Given the description of an element on the screen output the (x, y) to click on. 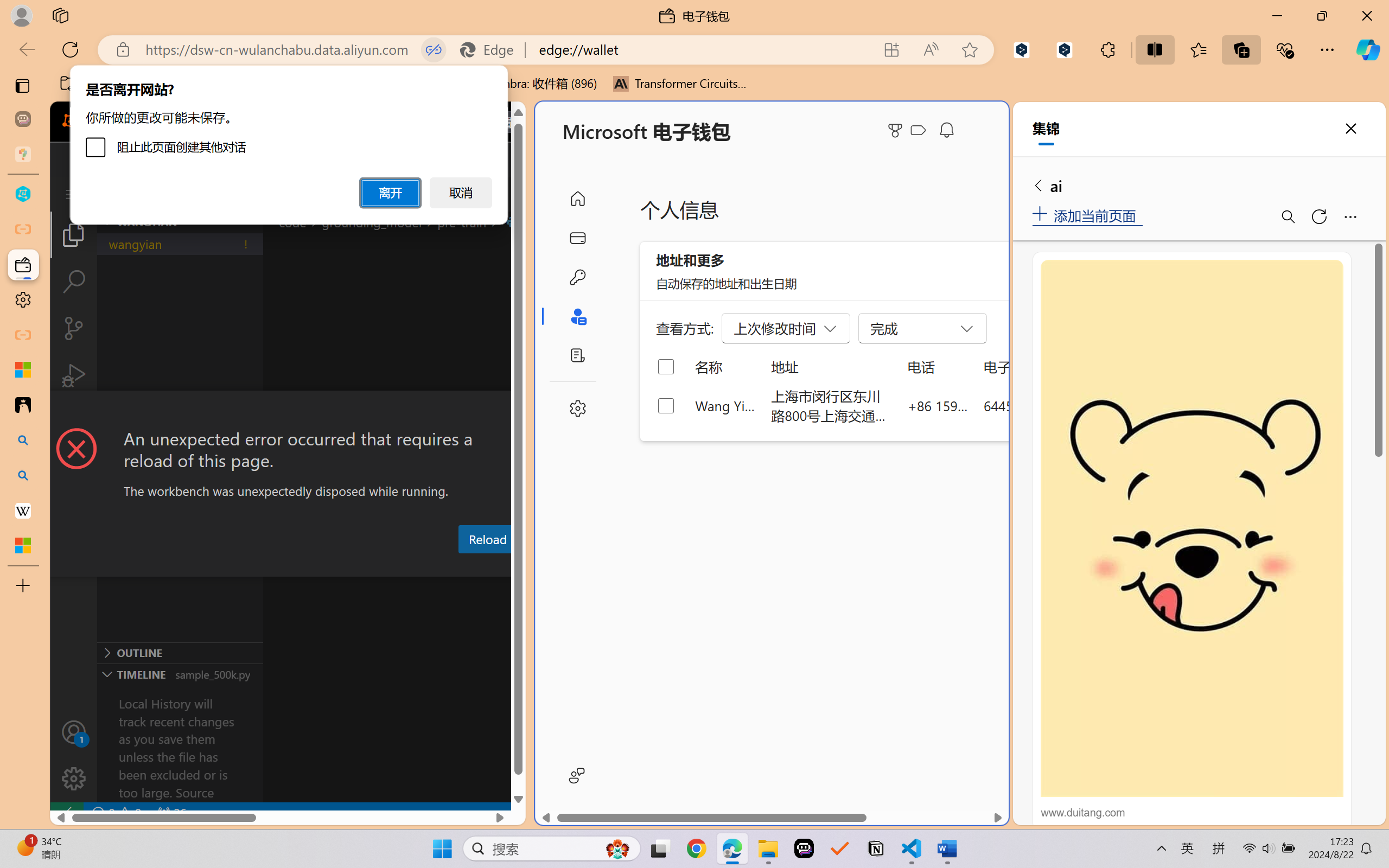
Reload (486, 538)
Output (Ctrl+Shift+U) (377, 565)
Copilot (Ctrl+Shift+.) (1368, 49)
Class: ___1lmltc5 f1agt3bx f12qytpq (917, 130)
644553698@qq.com (1043, 405)
Debug Console (Ctrl+Shift+Y) (463, 565)
